Given the description of an element on the screen output the (x, y) to click on. 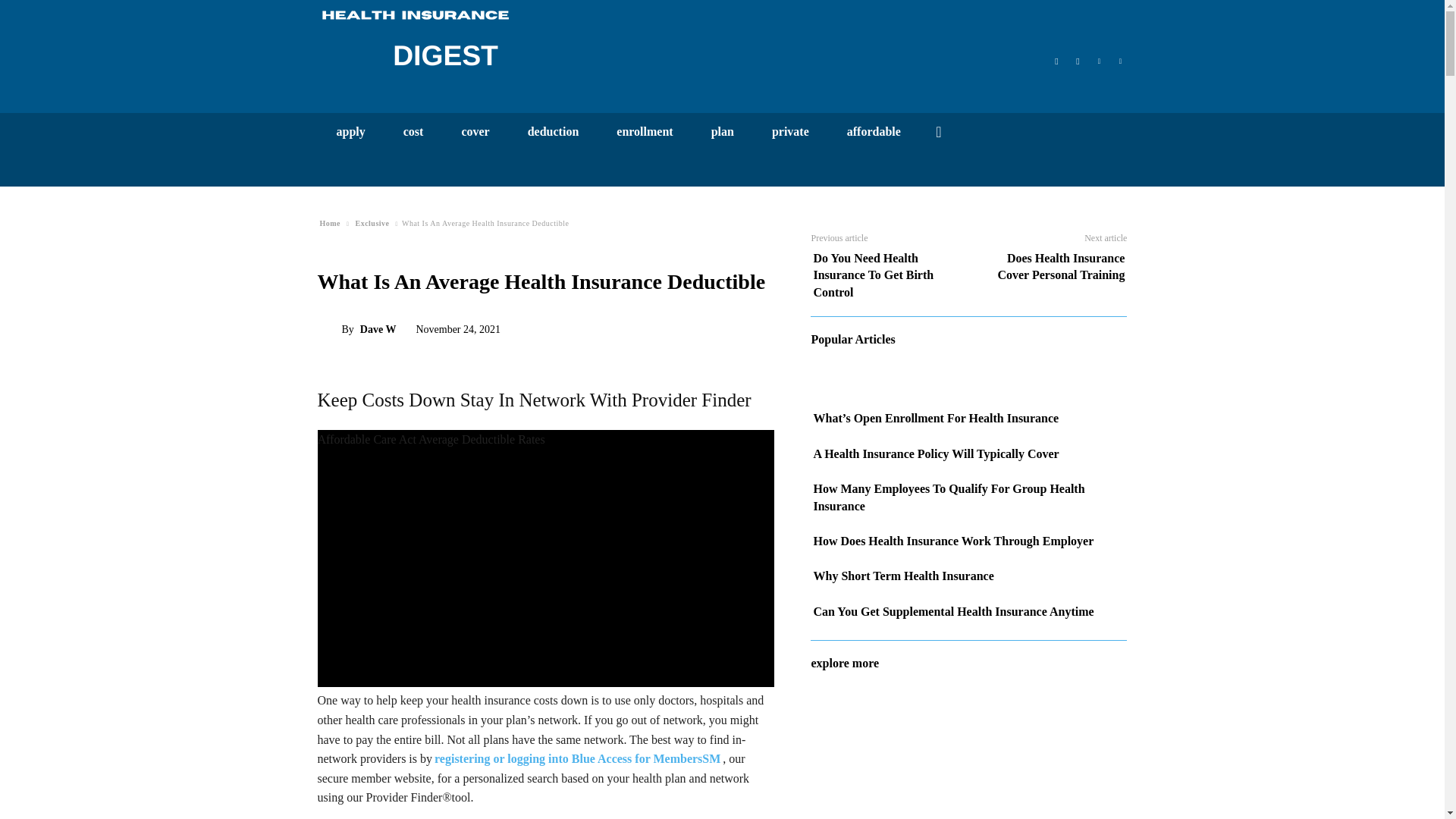
Facebook (1055, 59)
private (790, 131)
Twitter (1119, 59)
View all posts in Exclusive (371, 223)
cover (475, 131)
enrollment (643, 131)
Instagram (1077, 59)
plan (722, 131)
Dave W (328, 329)
Linkedin (1098, 59)
